Given the description of an element on the screen output the (x, y) to click on. 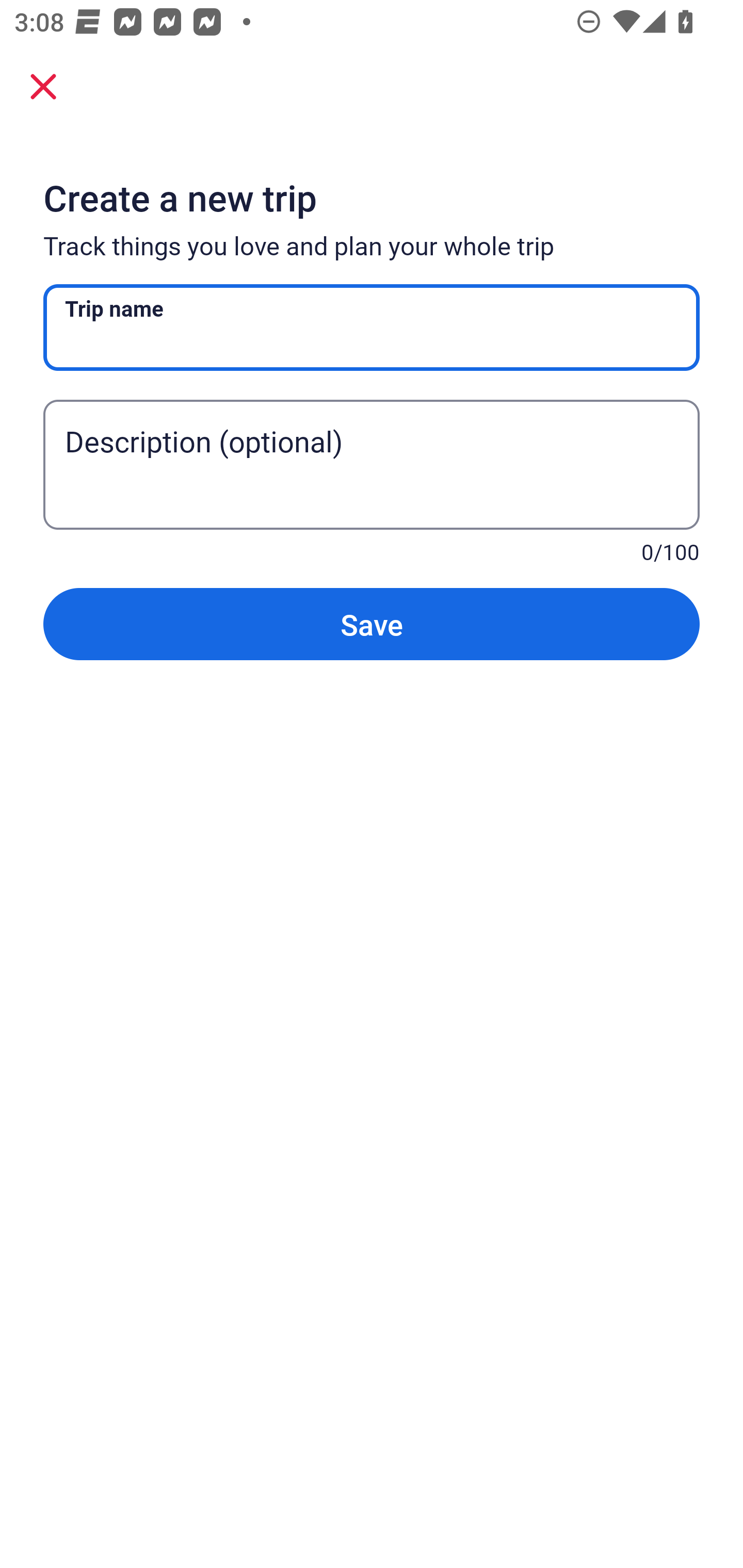
Close (43, 86)
Trip name (371, 327)
Save Button Save (371, 624)
